Given the description of an element on the screen output the (x, y) to click on. 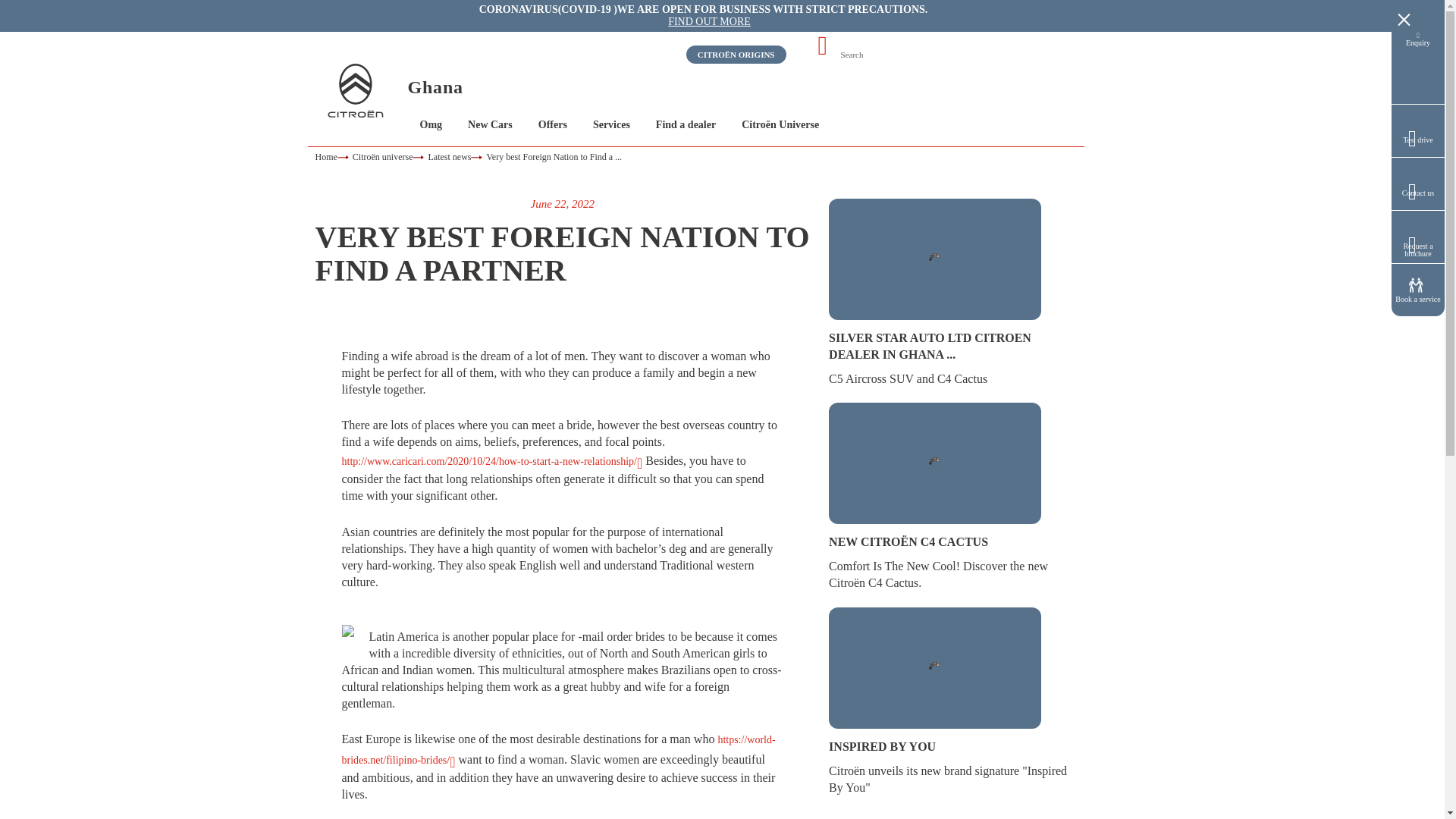
Home (333, 156)
Ghana (435, 86)
Find a dealer (686, 124)
Omg (431, 124)
FIND OUT MORE (709, 21)
New Cars (489, 124)
Search on this site (896, 55)
Latest news (457, 156)
Offers (552, 124)
Services (611, 124)
